Given the description of an element on the screen output the (x, y) to click on. 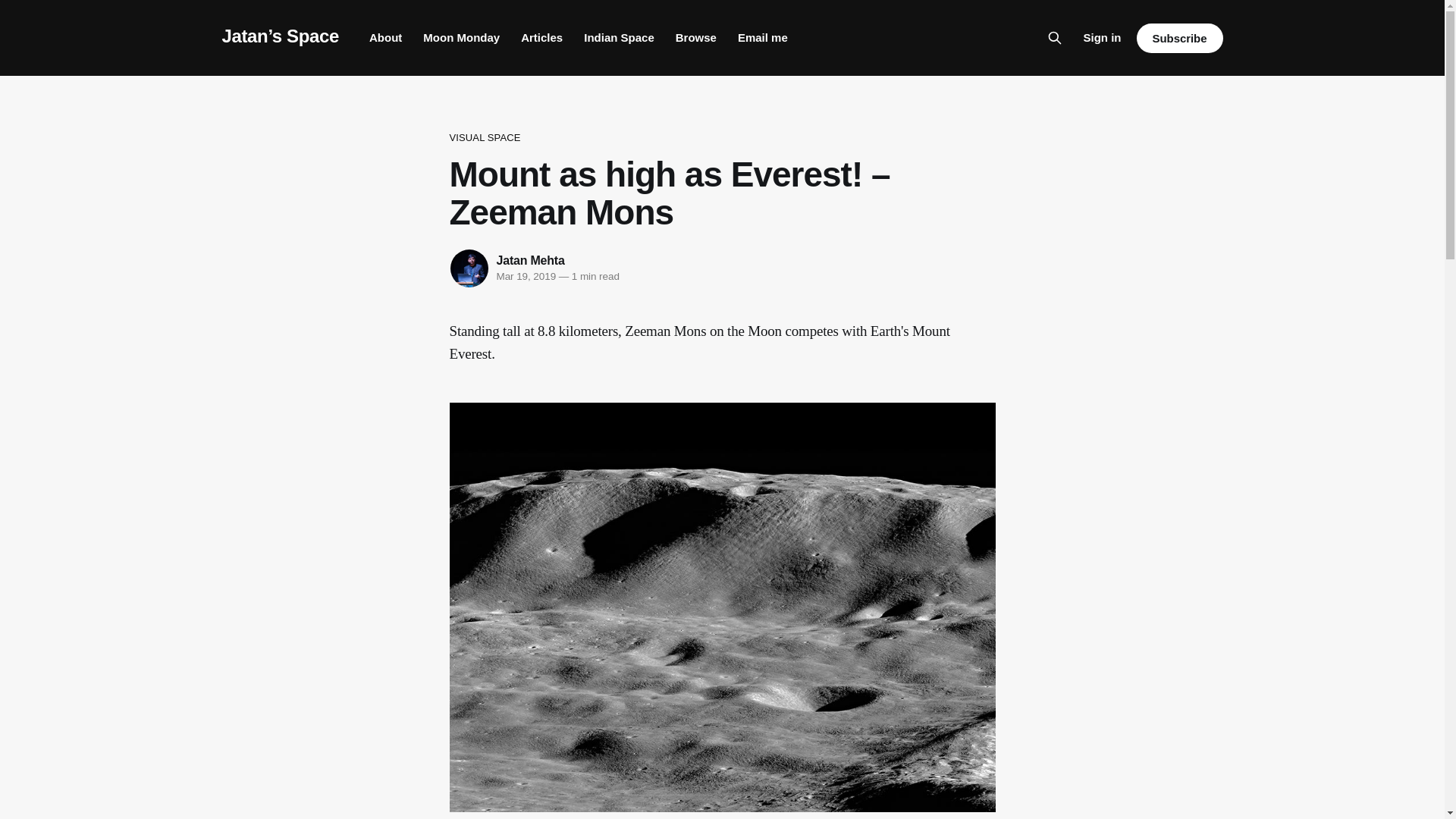
Indian Space (618, 37)
About (385, 37)
Sign in (1102, 37)
Moon Monday (461, 37)
Email me (762, 37)
Subscribe (1179, 37)
Articles (541, 37)
VISUAL SPACE (721, 138)
Browse (695, 37)
Jatan Mehta (530, 259)
